Given the description of an element on the screen output the (x, y) to click on. 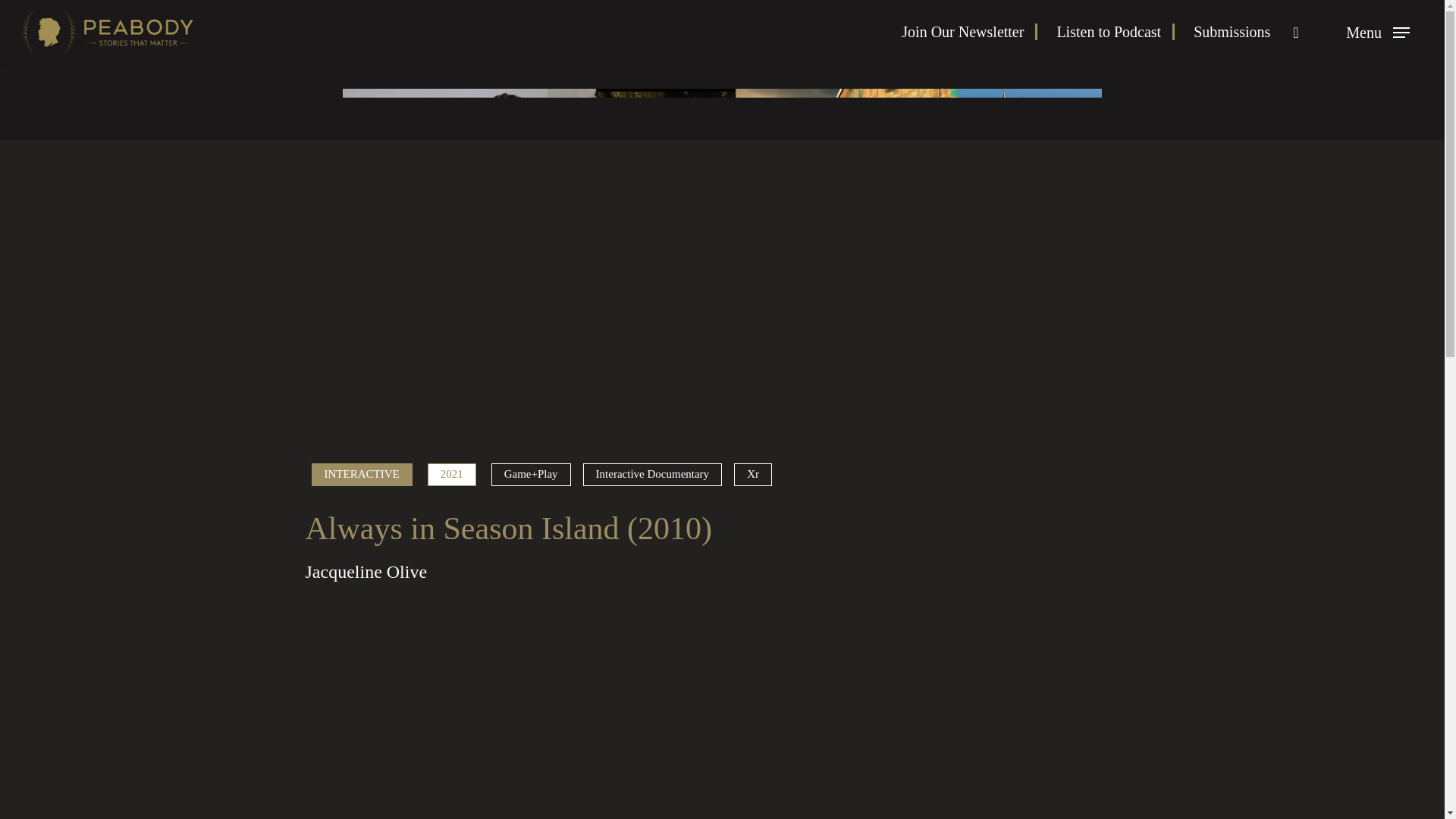
Listen to Podcast (1115, 31)
Submissions (1231, 31)
Xr (752, 474)
Join Our Newsletter (968, 31)
Interactive Documentary (652, 474)
Menu (1377, 31)
